Given the description of an element on the screen output the (x, y) to click on. 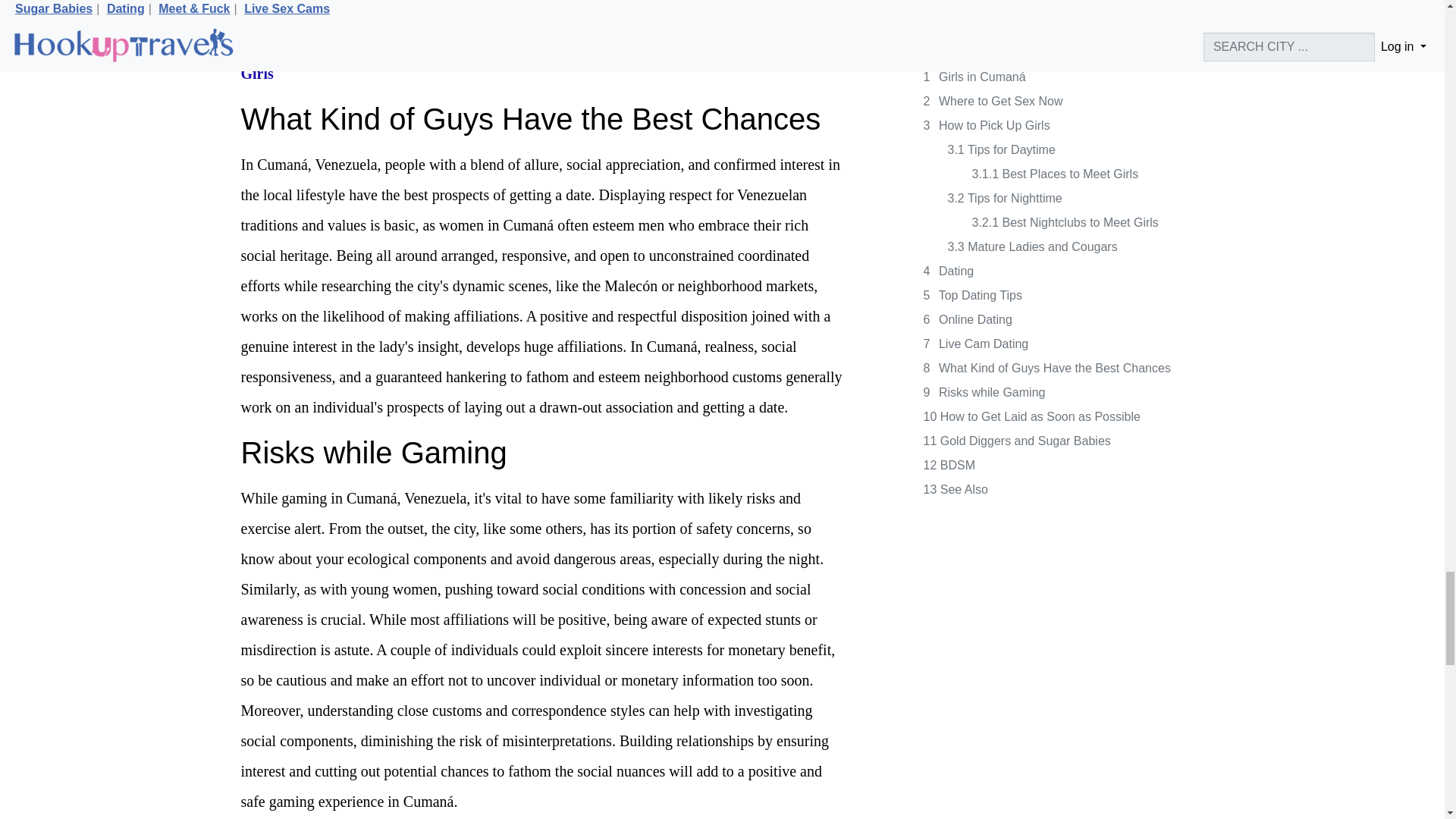
Live Cam Girls (533, 58)
